Given the description of an element on the screen output the (x, y) to click on. 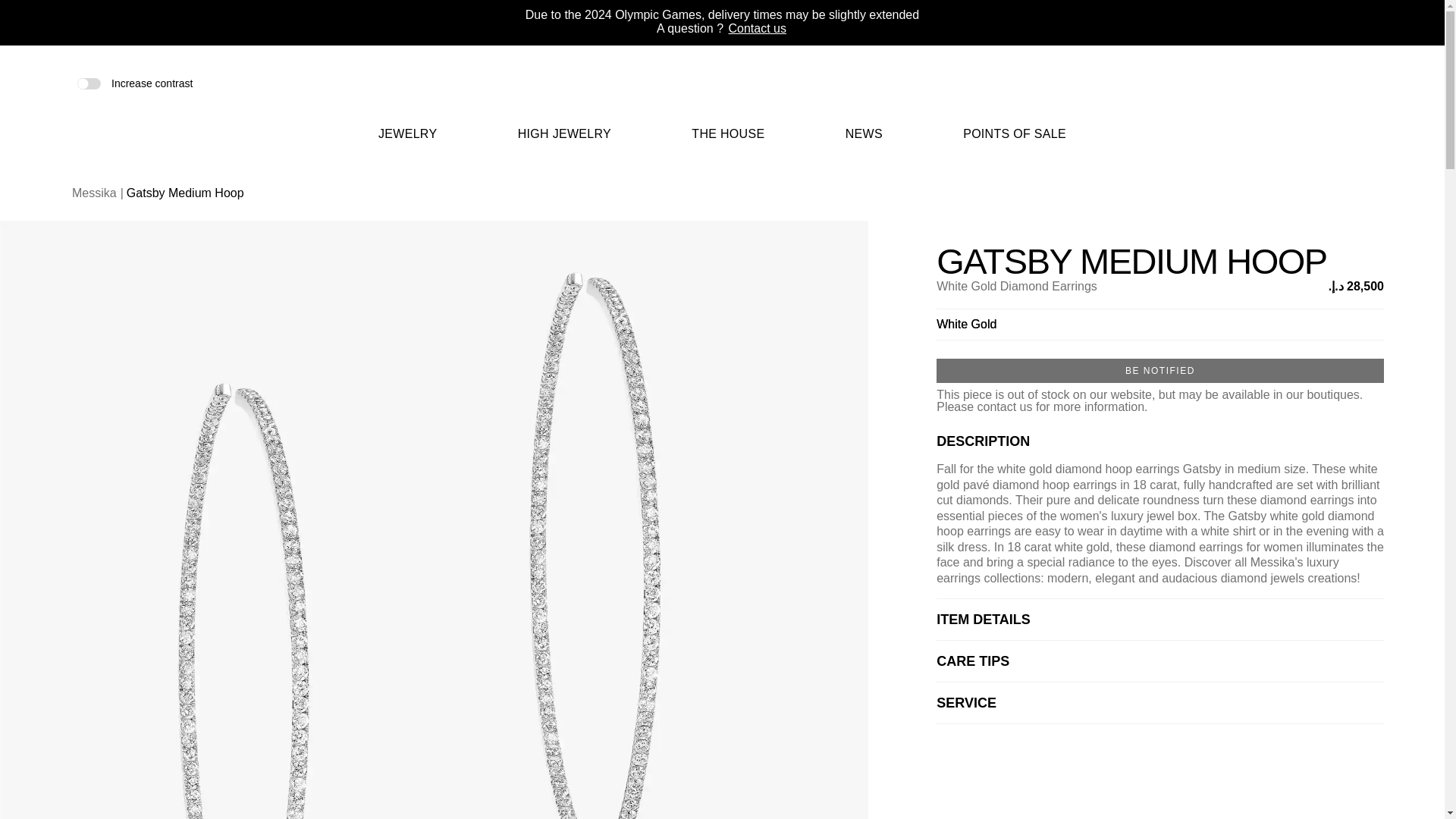
Messika (721, 103)
Shopping Cart (1348, 83)
Shopping Cart (1348, 84)
Search (1299, 84)
on (88, 82)
Wishlist (1323, 84)
Wishlist (1323, 83)
Messika (721, 92)
My Profil (1374, 84)
JEWELRY (407, 142)
Search (1299, 83)
My Profil (1374, 83)
Contact us (757, 28)
